Given the description of an element on the screen output the (x, y) to click on. 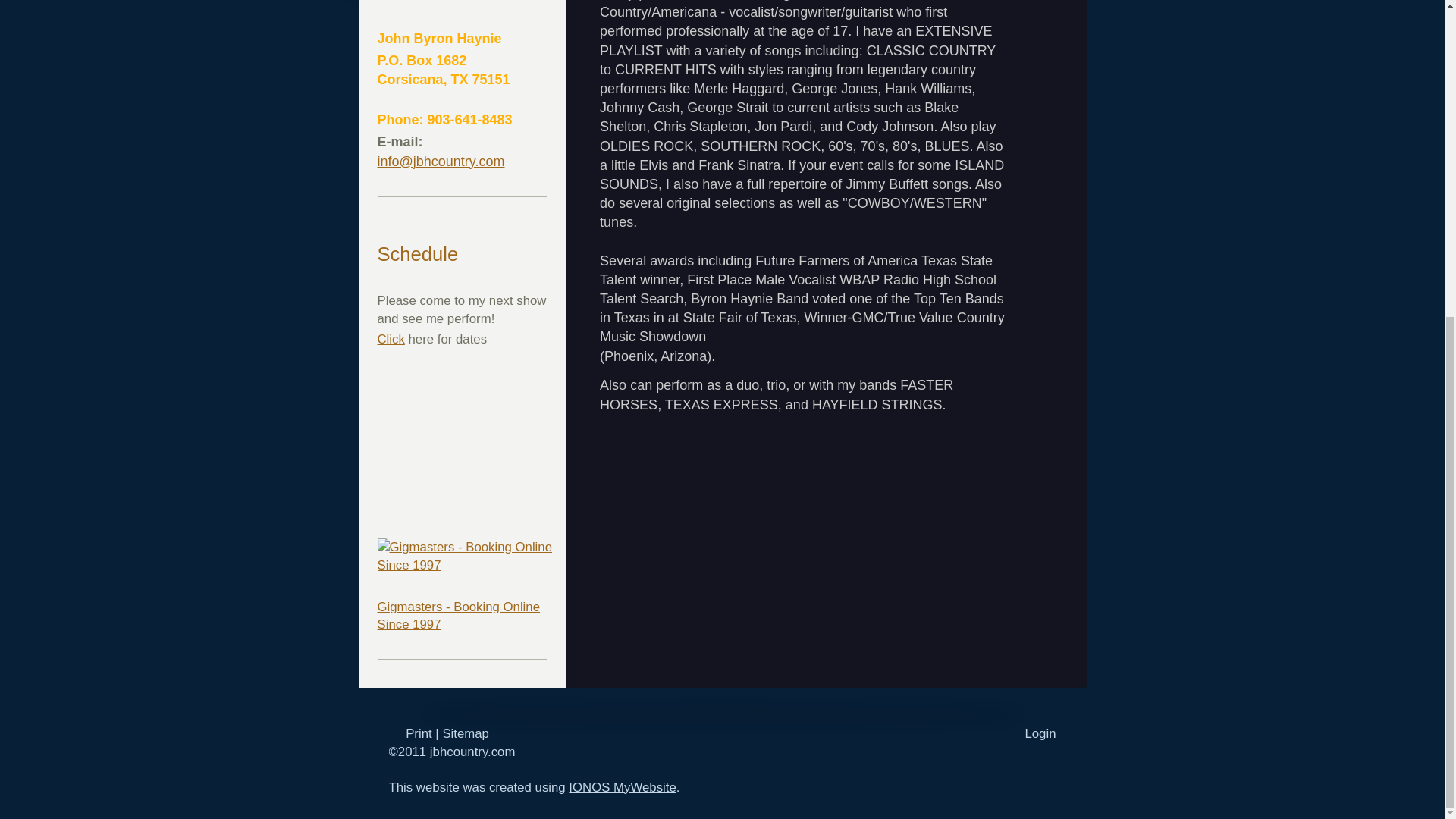
IONOS MyWebsite (622, 787)
Print (411, 733)
Sitemap (465, 733)
Login (1040, 733)
Gigmasters - Booking Online Since 1997 (458, 615)
Gigmasters - Booking Online Since 1997 (462, 567)
Click (390, 339)
Gigmasters - Booking Online Since 1997 (458, 615)
